Given the description of an element on the screen output the (x, y) to click on. 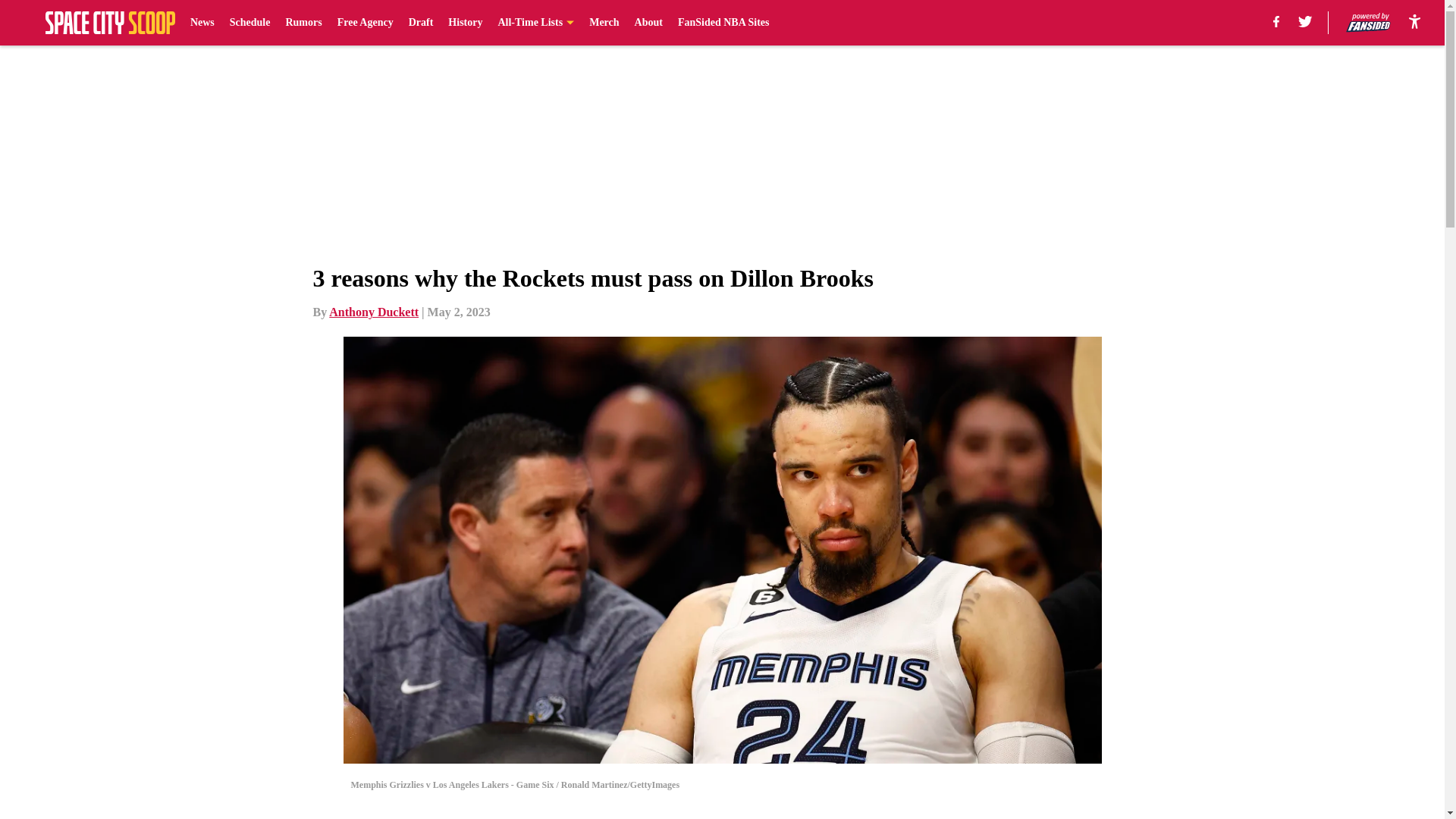
All-Time Lists (535, 22)
Draft (421, 22)
Rumors (303, 22)
FanSided NBA Sites (724, 22)
Free Agency (365, 22)
Schedule (250, 22)
News (202, 22)
Anthony Duckett (374, 311)
Merch (603, 22)
